Given the description of an element on the screen output the (x, y) to click on. 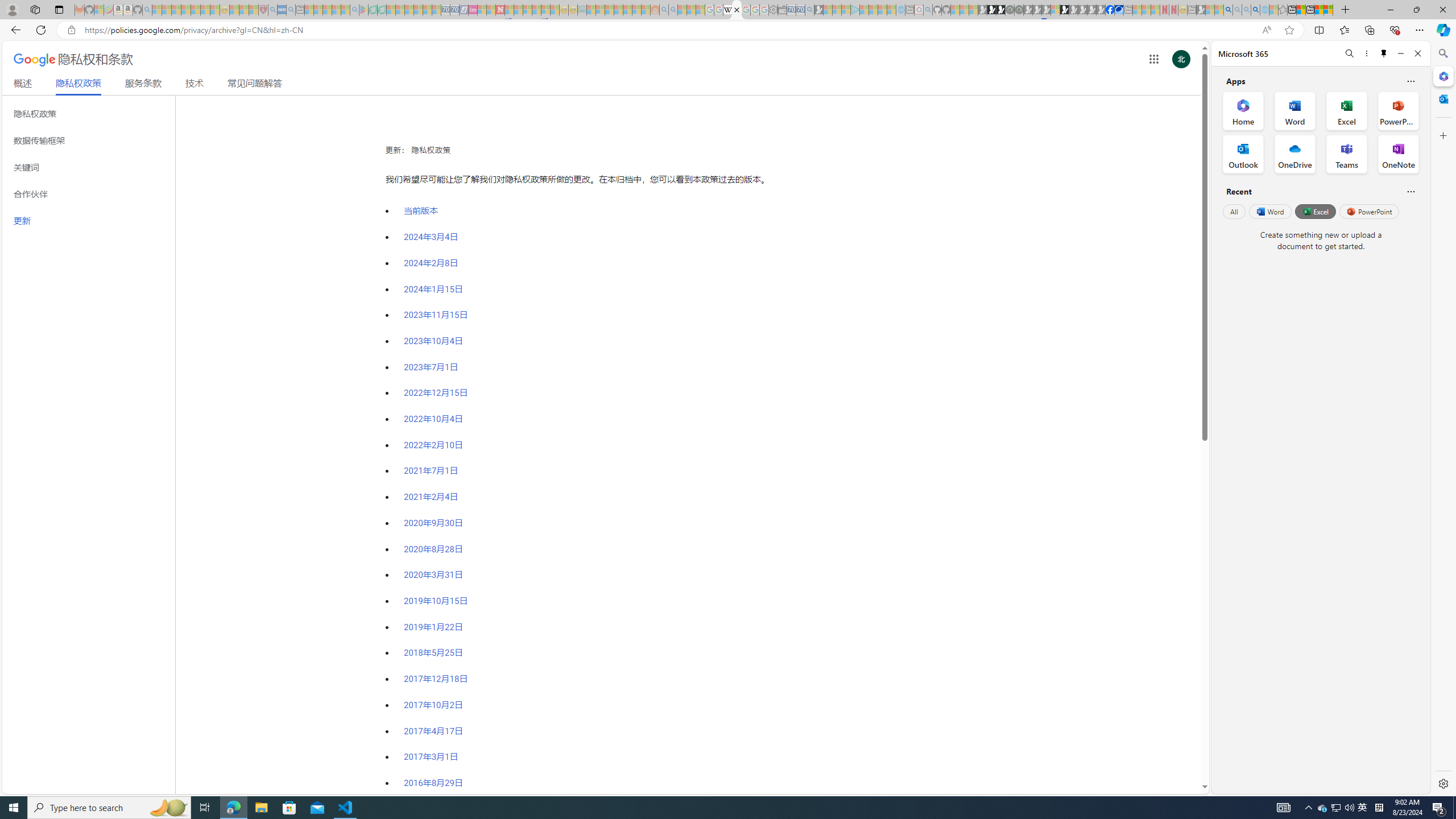
Pets - MSN - Sleeping (336, 9)
Latest Politics News & Archive | Newsweek.com - Sleeping (499, 9)
Terms of Use Agreement - Sleeping (372, 9)
Target page - Wikipedia (726, 9)
